Given the description of an element on the screen output the (x, y) to click on. 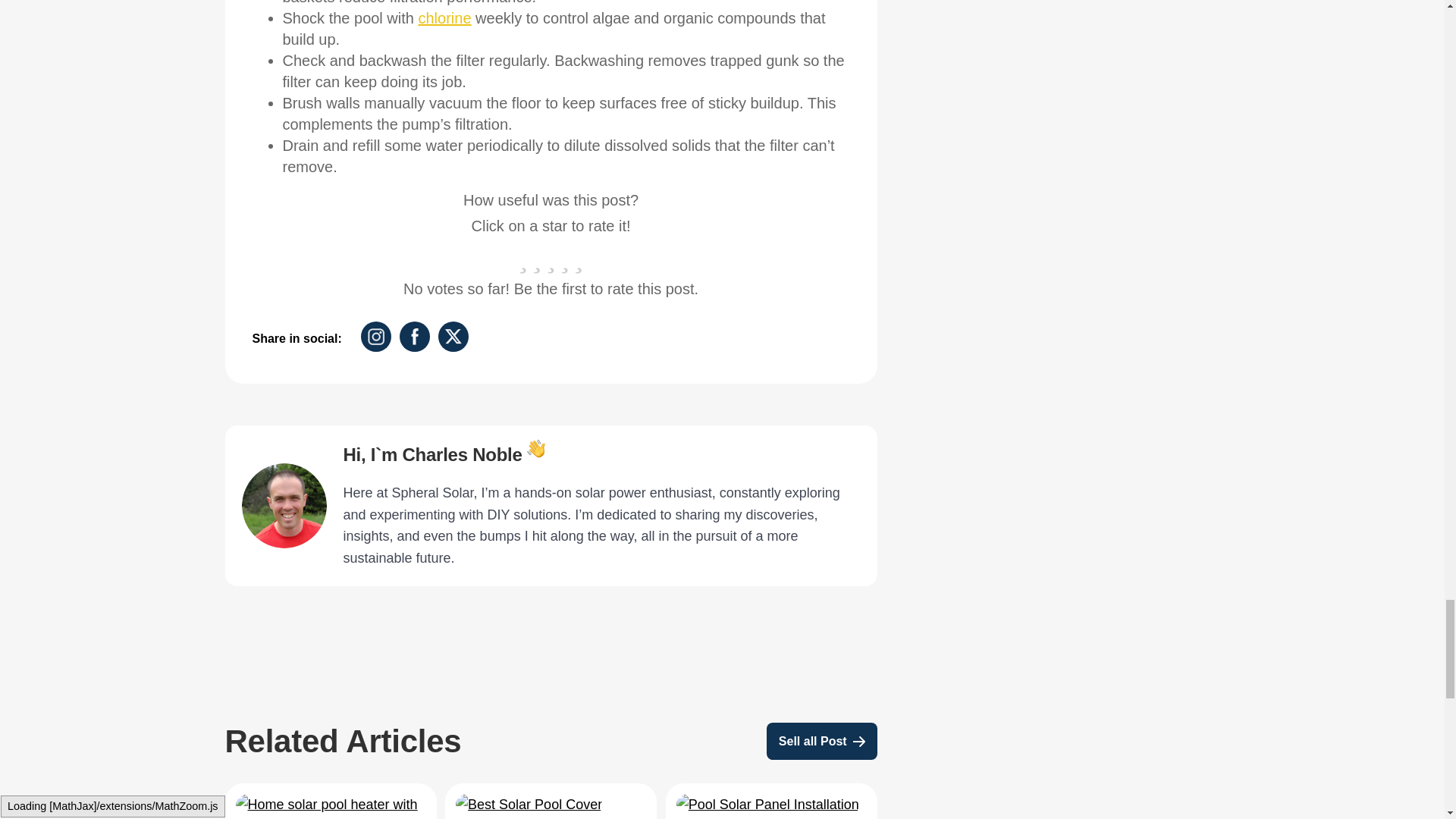
Twitter (453, 336)
Best Solar Pool Covers in 2023 (528, 804)
Pool Solar Panel Installation: Pro Installation or DIY? (768, 804)
Facebook (414, 336)
chlorine (445, 17)
9 Best Solar Pool Heaters in 2023 (329, 806)
Instagram (376, 336)
